Given the description of an element on the screen output the (x, y) to click on. 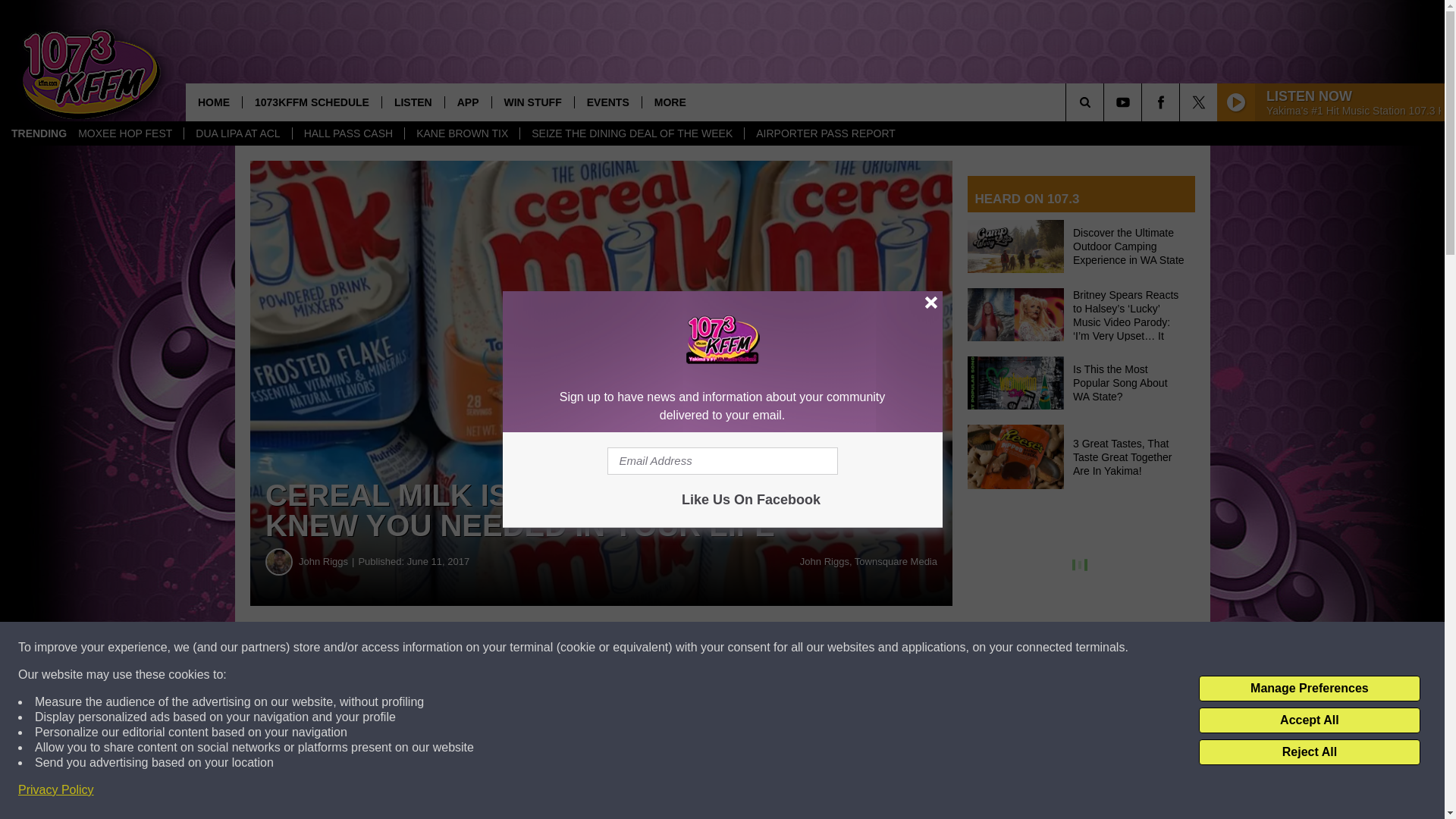
1073KFFM SCHEDULE (311, 102)
SEARCH (1106, 102)
MOXEE HOP FEST (124, 133)
Manage Preferences (1309, 688)
AIRPORTER PASS REPORT (825, 133)
Share on Twitter (741, 647)
Email Address (722, 461)
Share on Facebook (460, 647)
LISTEN (412, 102)
Reject All (1309, 751)
Accept All (1309, 720)
HOME (213, 102)
WIN STUFF (532, 102)
KANE BROWN TIX (461, 133)
HALL PASS CASH (348, 133)
